Given the description of an element on the screen output the (x, y) to click on. 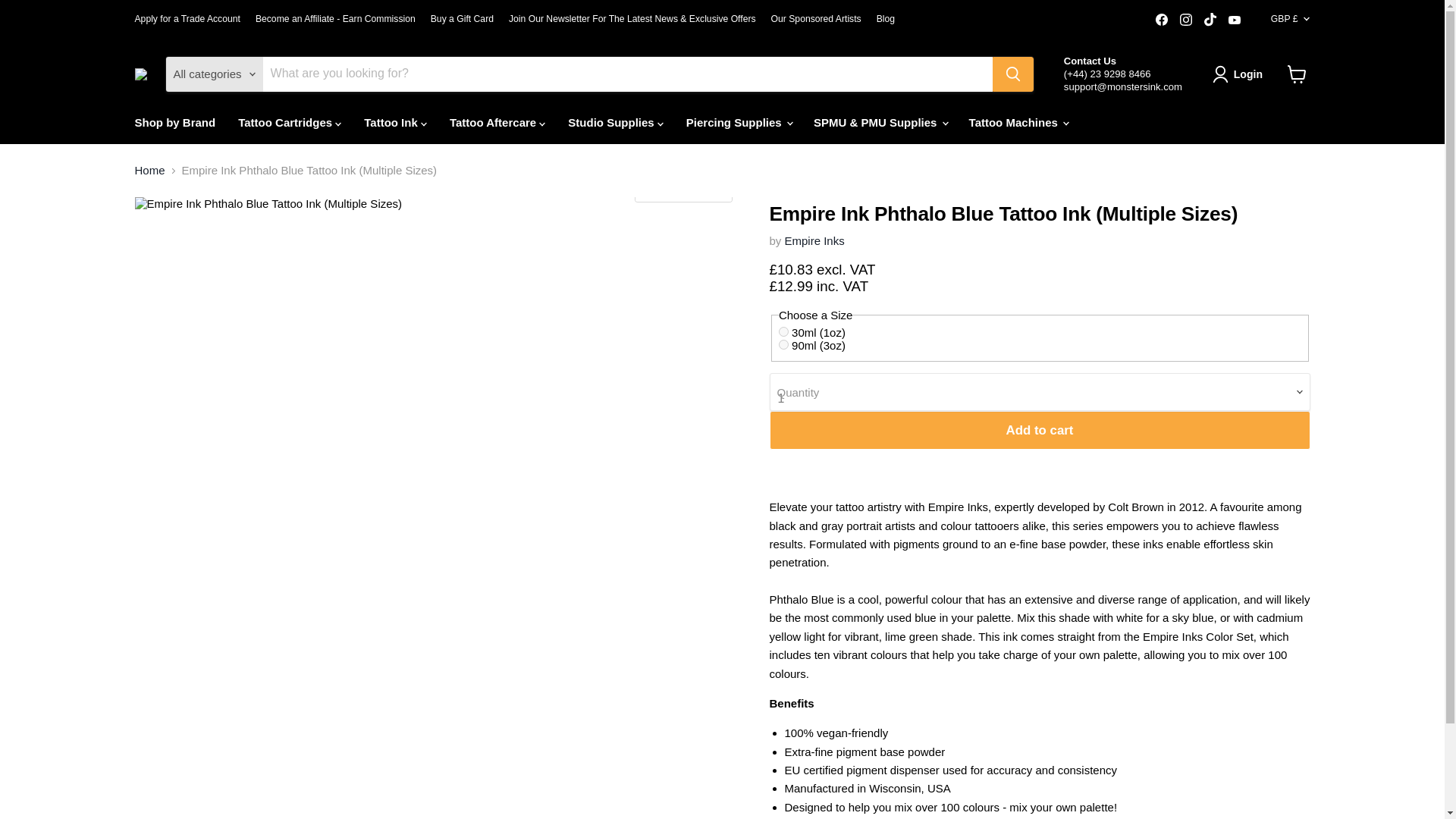
Find us on Facebook (1161, 19)
Shop by Brand (174, 122)
Facebook (1161, 19)
Login (1240, 74)
Our Sponsored Artists (816, 18)
Become an Affiliate - Earn Commission (335, 18)
Find us on TikTok (1210, 19)
Find us on YouTube (1234, 19)
YouTube (1234, 19)
Find us on Instagram (1185, 19)
Buy a Gift Card (461, 18)
Empire Inks (814, 240)
Blog (885, 18)
Instagram (1185, 19)
TikTok (1210, 19)
